Given the description of an element on the screen output the (x, y) to click on. 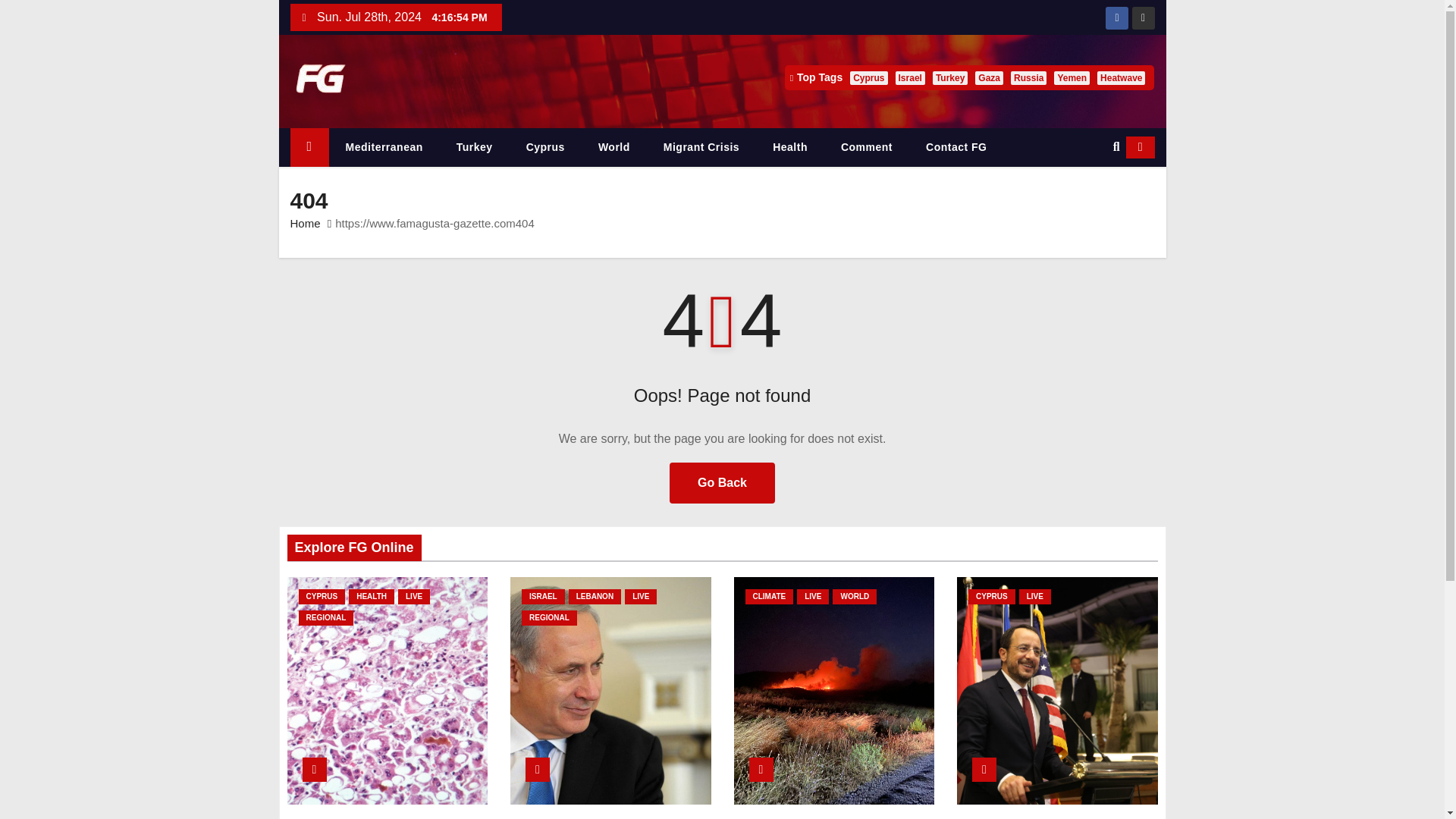
Cyprus (544, 147)
LIVE (413, 596)
Mediterranean (384, 147)
World (613, 147)
Home (304, 223)
CYPRUS (322, 596)
Health (789, 147)
Migrant Crisis (700, 147)
Migrant Crisis (700, 147)
Turkey (474, 147)
Turkey (474, 147)
Cyprus (544, 147)
HEALTH (371, 596)
Home (309, 147)
REGIONAL (325, 617)
